Given the description of an element on the screen output the (x, y) to click on. 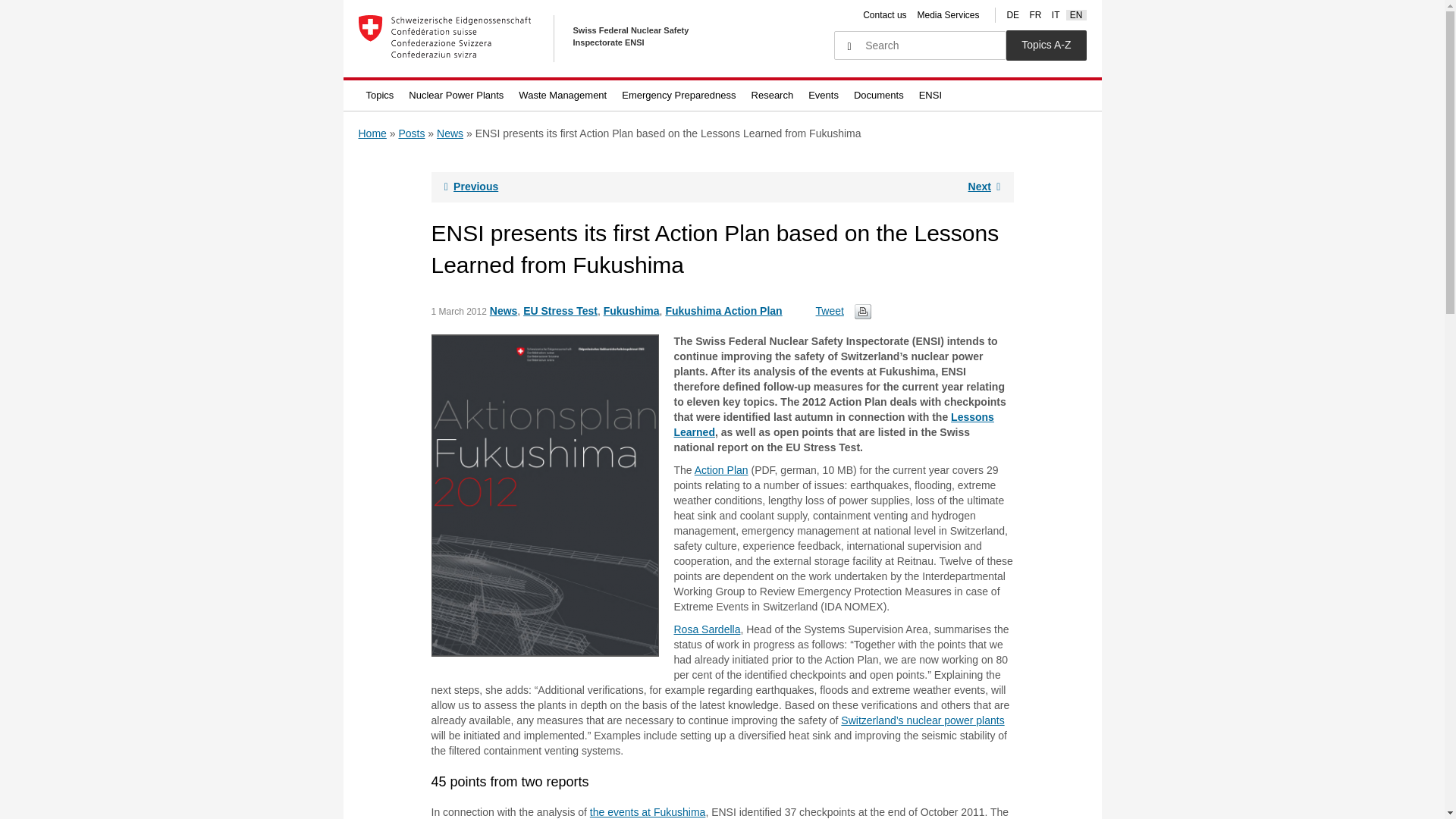
DE (1012, 14)
Topics A-Z (1046, 45)
Swiss Federal Nuclear Safety Inspectorate ENSI (540, 38)
EN (1076, 14)
Search (849, 46)
FR (1035, 14)
